Given the description of an element on the screen output the (x, y) to click on. 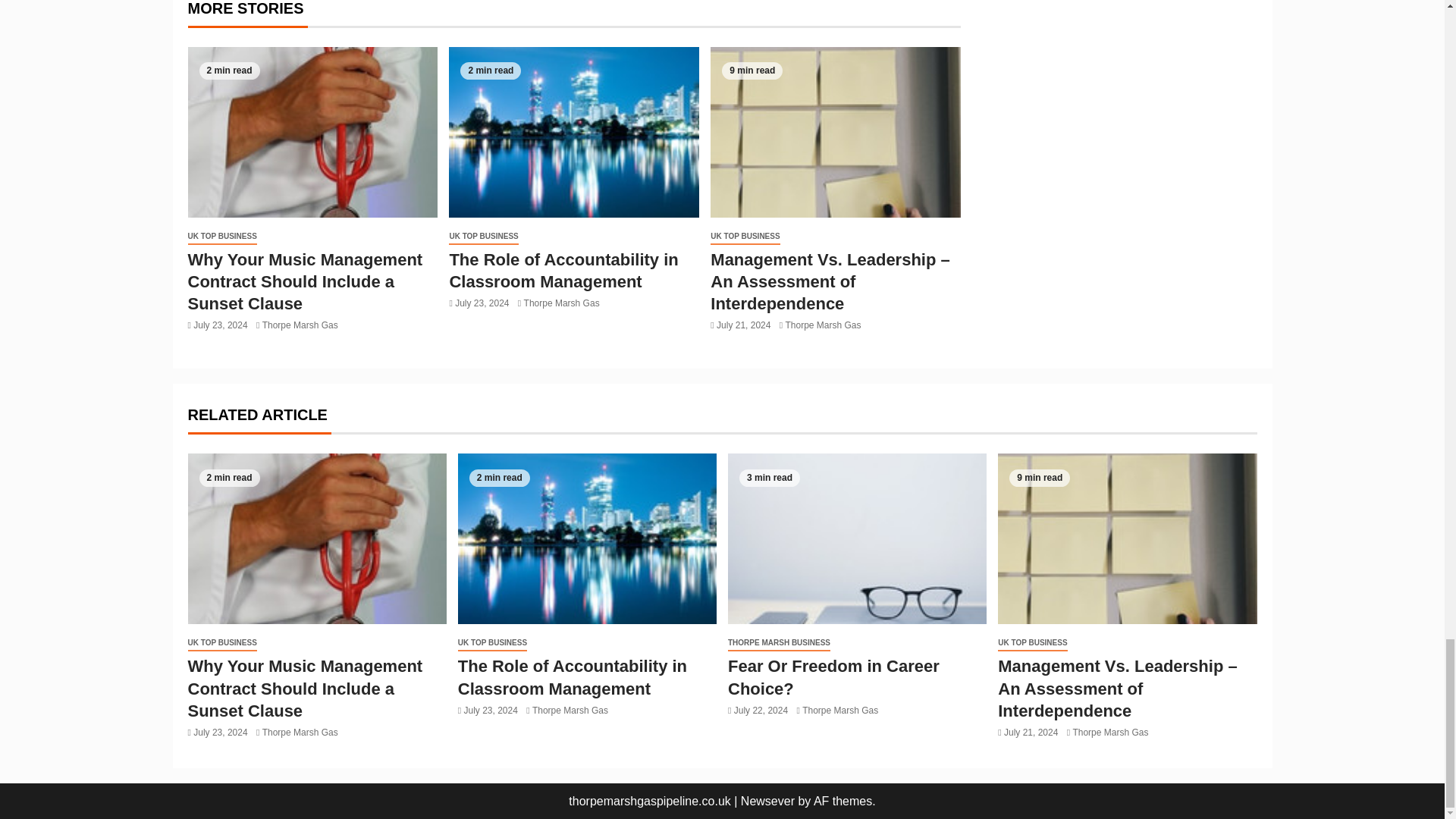
The Role of Accountability in Classroom Management (573, 131)
